Given the description of an element on the screen output the (x, y) to click on. 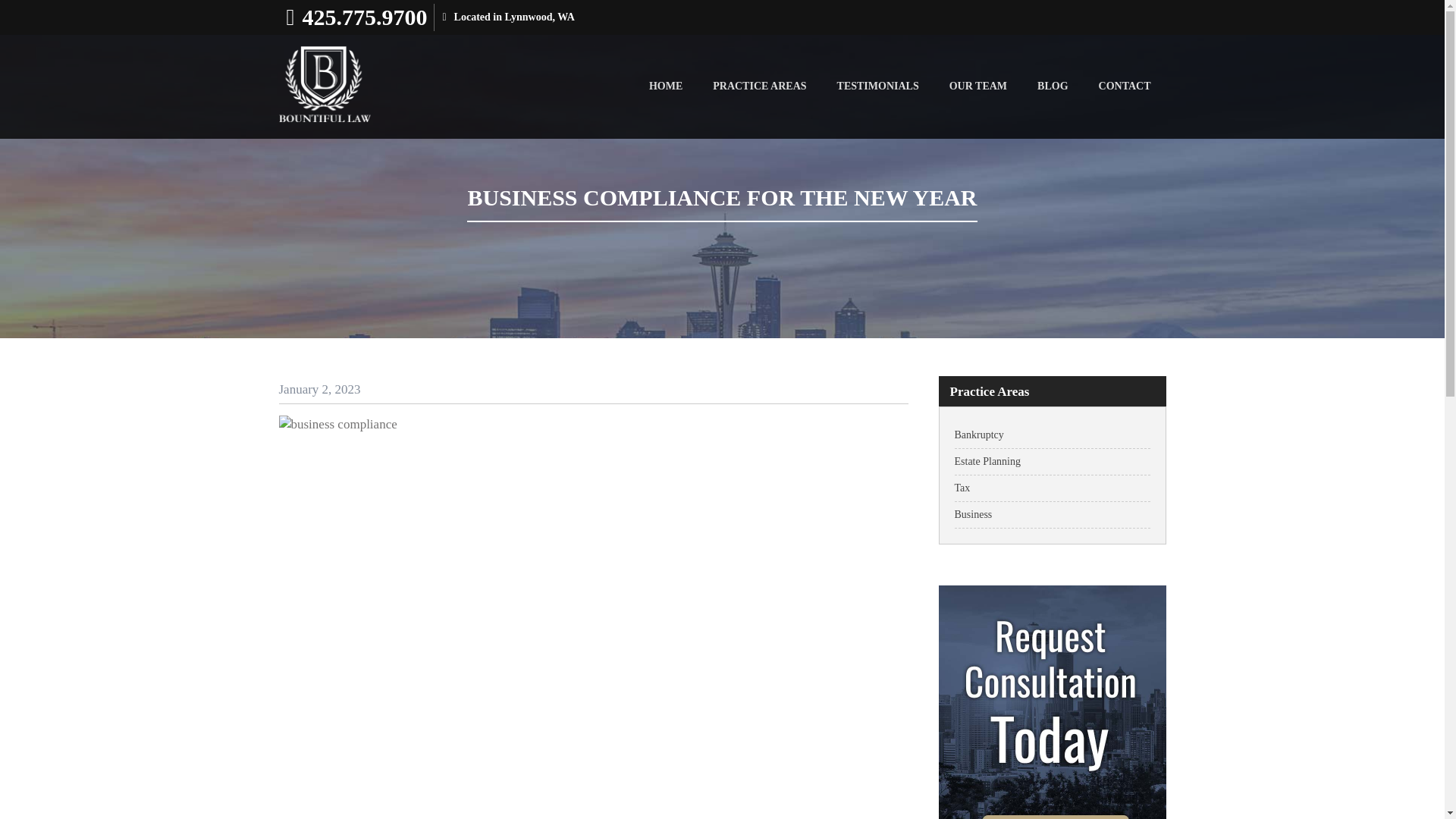
CONTACT (1124, 86)
425.775.9700 (363, 16)
HOME (665, 86)
PRACTICE AREAS (759, 86)
TESTIMONIALS (878, 86)
BLOG (1052, 86)
OUR TEAM (978, 86)
